Given the description of an element on the screen output the (x, y) to click on. 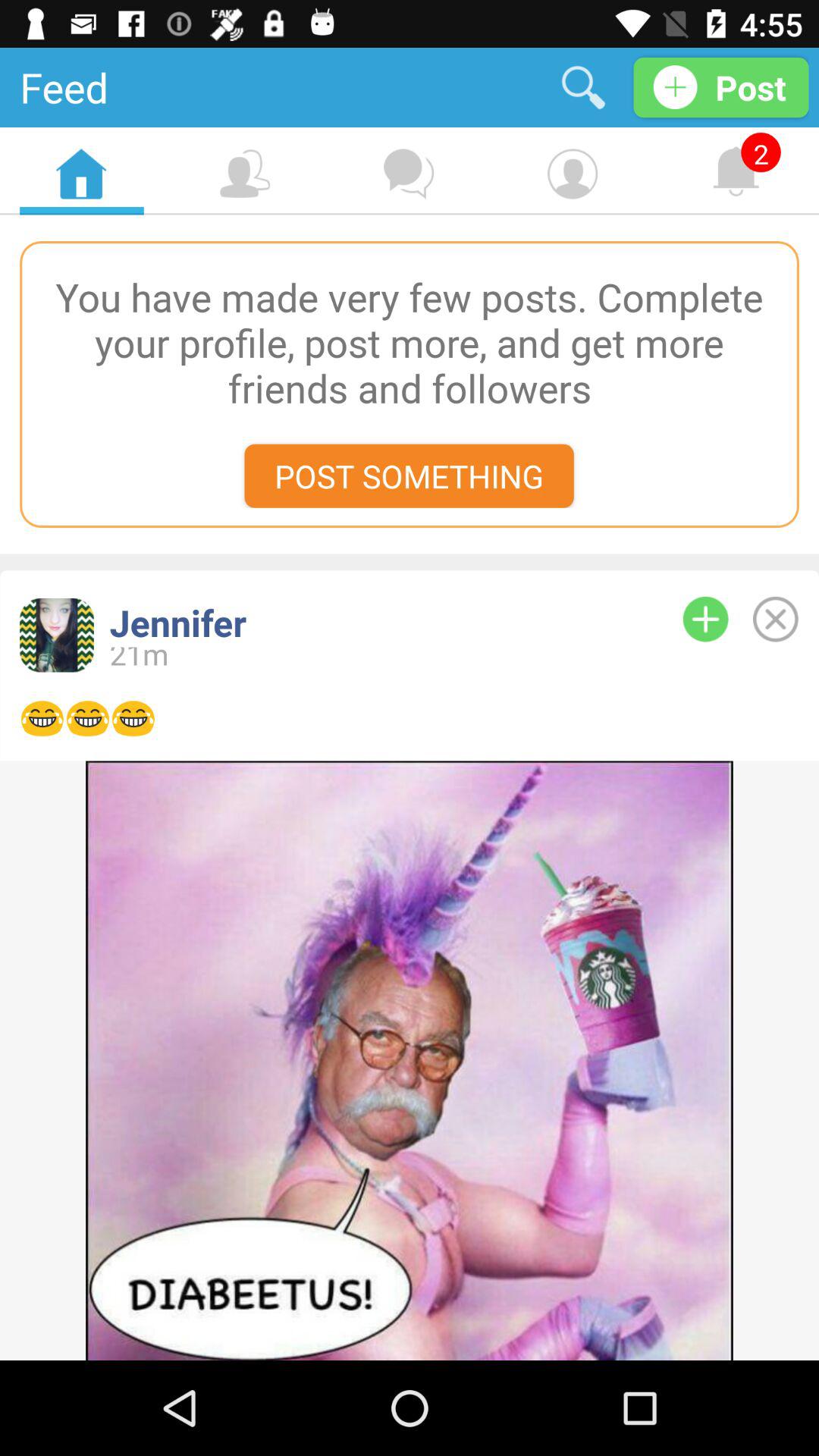
expand info (705, 619)
